Given the description of an element on the screen output the (x, y) to click on. 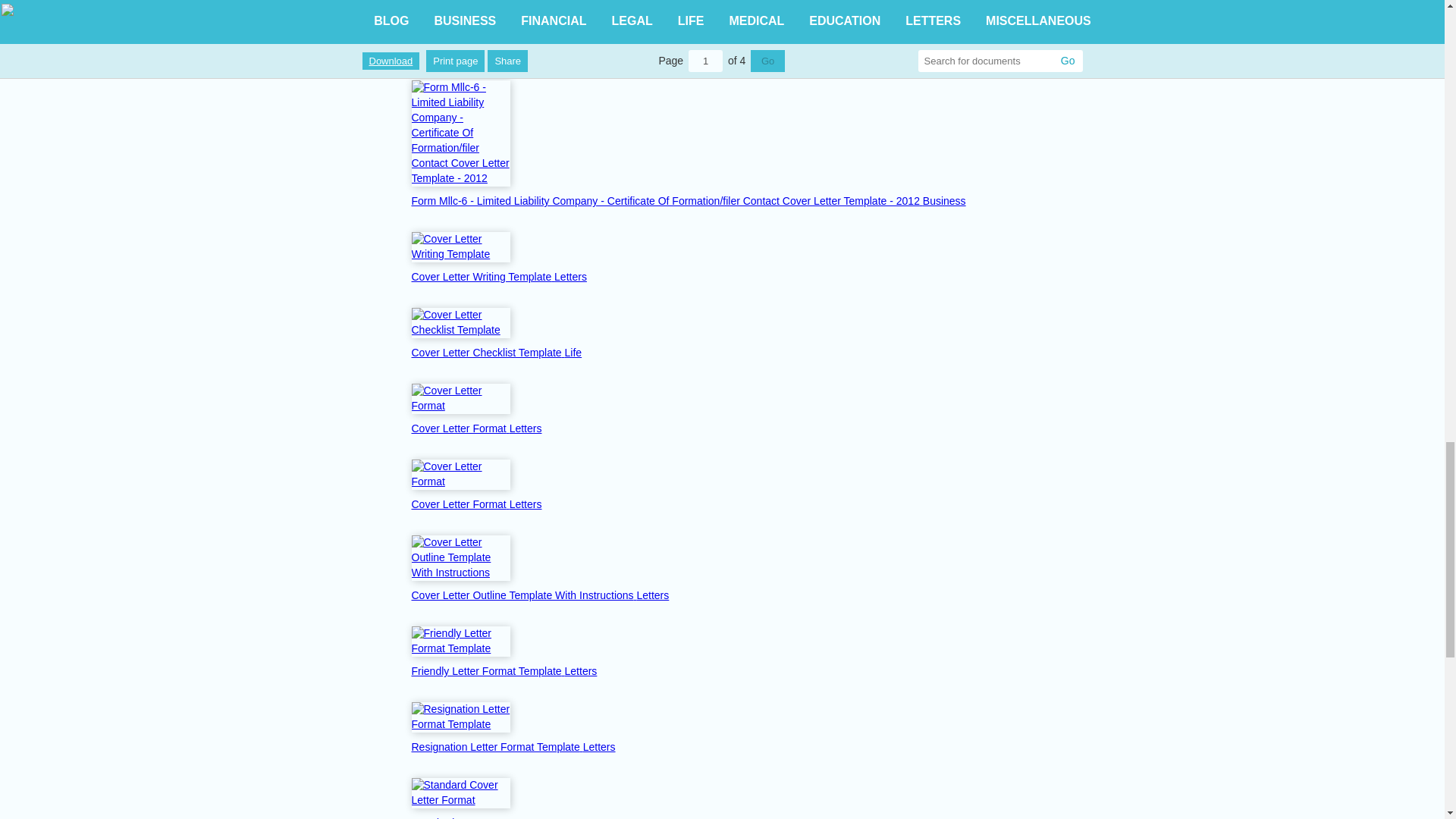
Cover Letter Writing Template (459, 246)
A  (492, 49)
Letters (652, 594)
Business (944, 200)
Cover Letter Format (459, 428)
Cover Letter Outline Template With Instructions (523, 594)
Cover Letter Writing Template (482, 276)
Letters (570, 276)
A "t-format" Cover Letter Template (492, 49)
Cover Letter Format (459, 503)
